Given the description of an element on the screen output the (x, y) to click on. 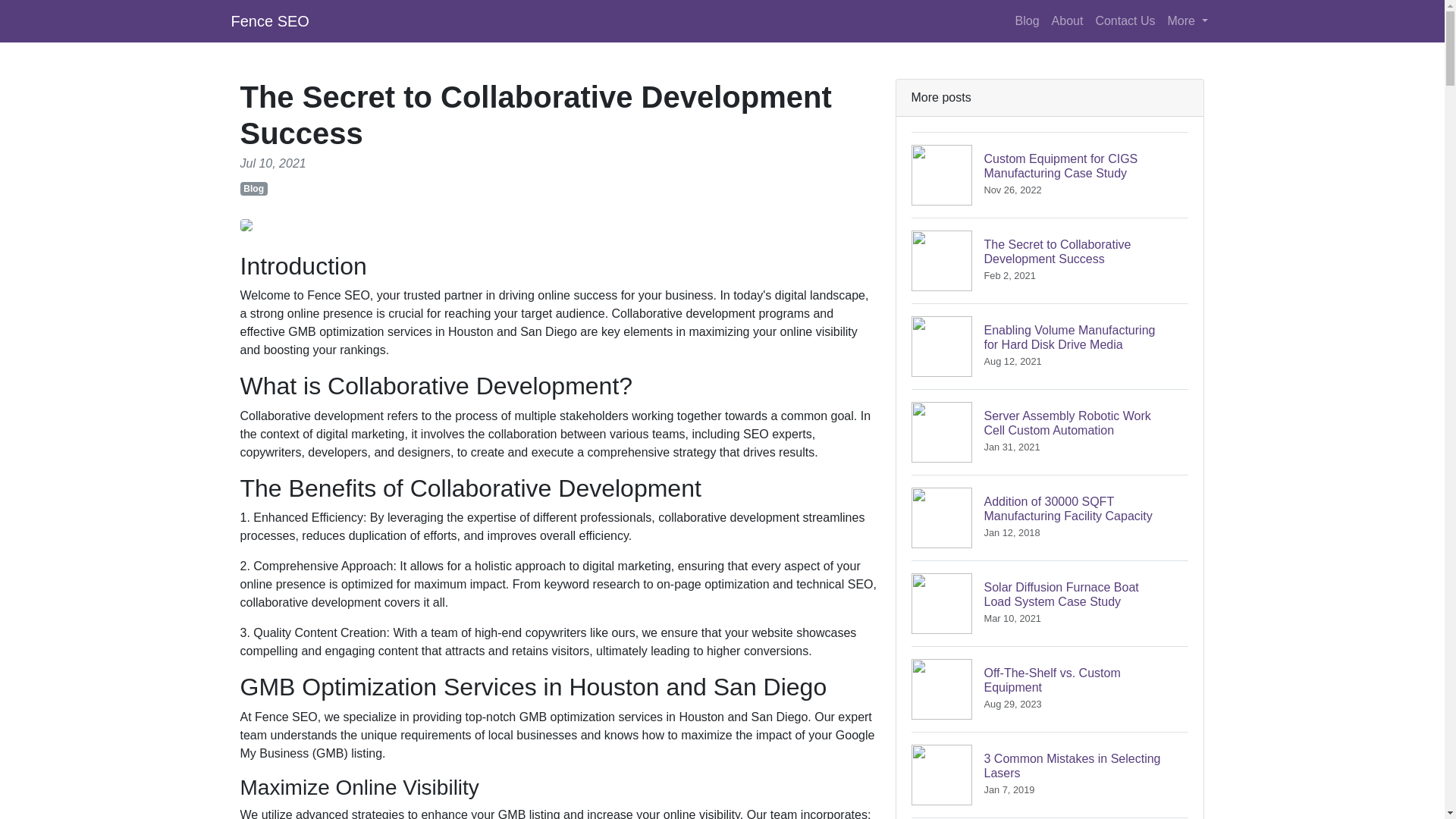
Blog (1027, 20)
Fence SEO (1050, 689)
Blog (269, 20)
Contact Us (1050, 774)
More (253, 188)
About (1124, 20)
